Given the description of an element on the screen output the (x, y) to click on. 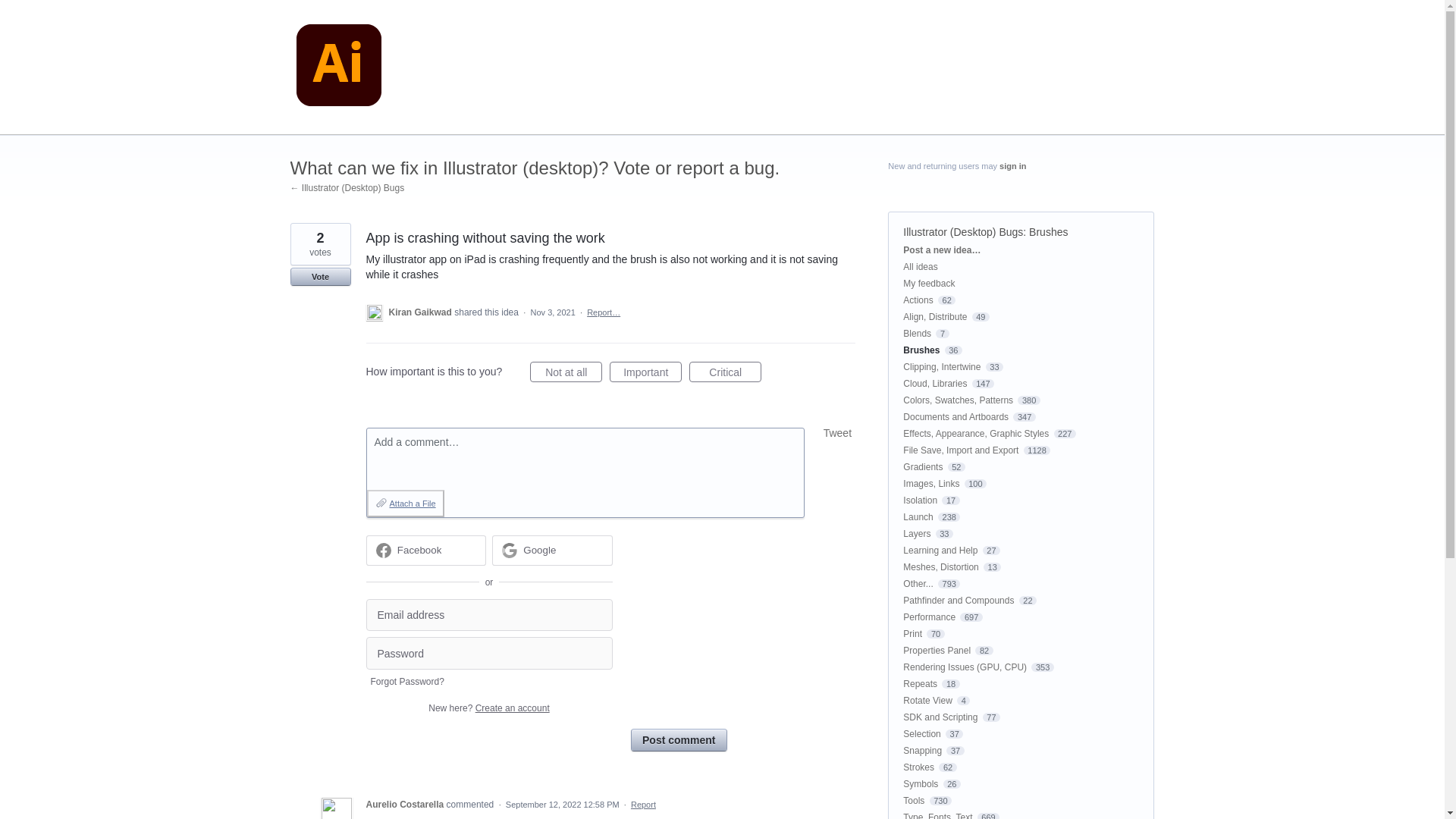
Kiran Gaikwad (421, 312)
Forgot Password? (406, 681)
Facebook (419, 550)
Attach a File (405, 502)
Not at all (565, 371)
Google (552, 550)
Tweet (837, 432)
Facebook (425, 550)
Google (539, 550)
Google sign in (552, 550)
Skip to content (12, 12)
New here? Create an account (488, 707)
Vote (319, 276)
Critical (724, 371)
Important (645, 371)
